Given the description of an element on the screen output the (x, y) to click on. 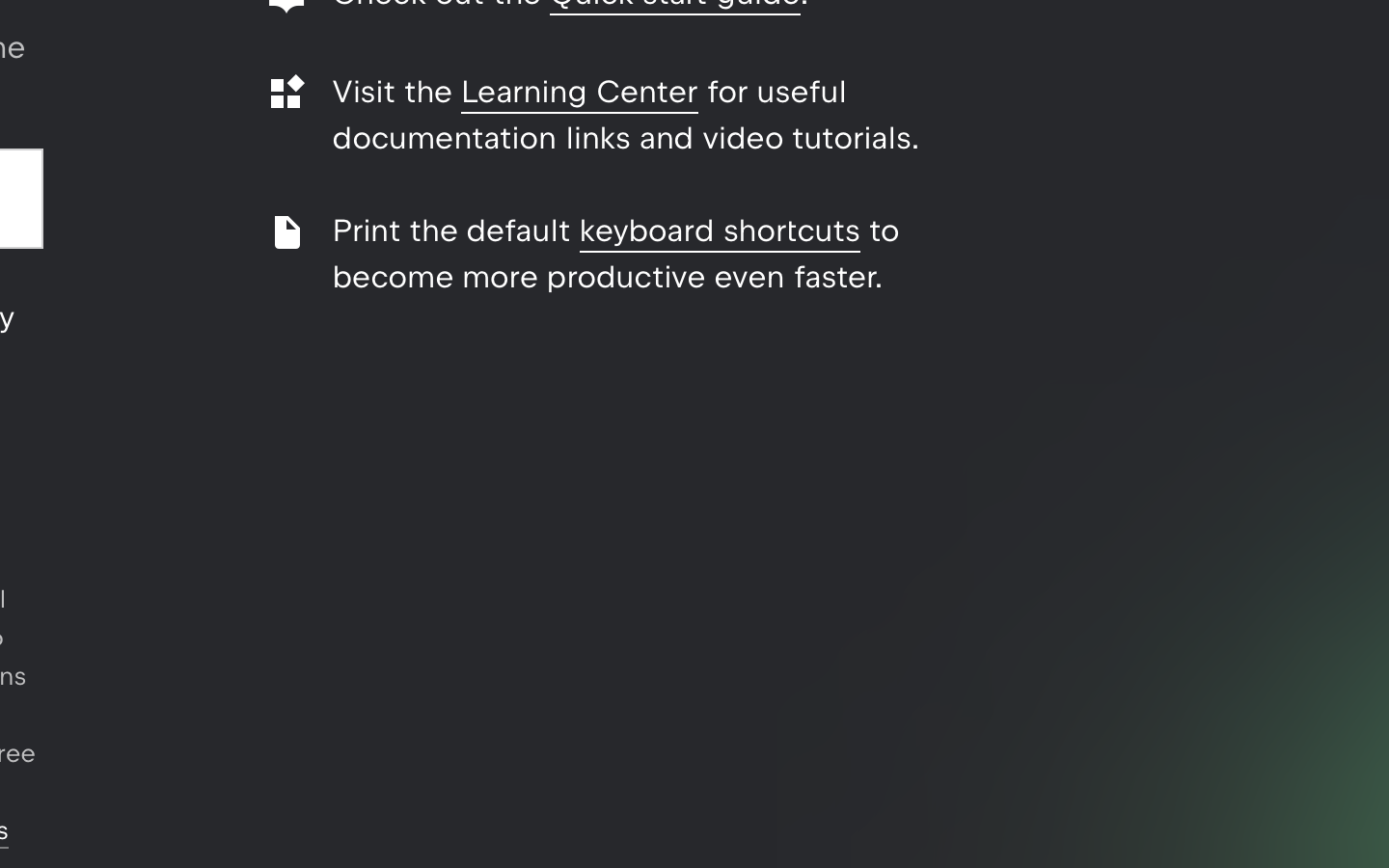
to become more productive even faster. Element type: AXStaticText (615, 253)
keyboard shortcuts Element type: AXStaticText (719, 230)
Learning Center Element type: AXStaticText (579, 91)
Print the default Element type: AXStaticText (455, 230)
for useful documentation links and video tutorials. Element type: AXStaticText (625, 114)
